Given the description of an element on the screen output the (x, y) to click on. 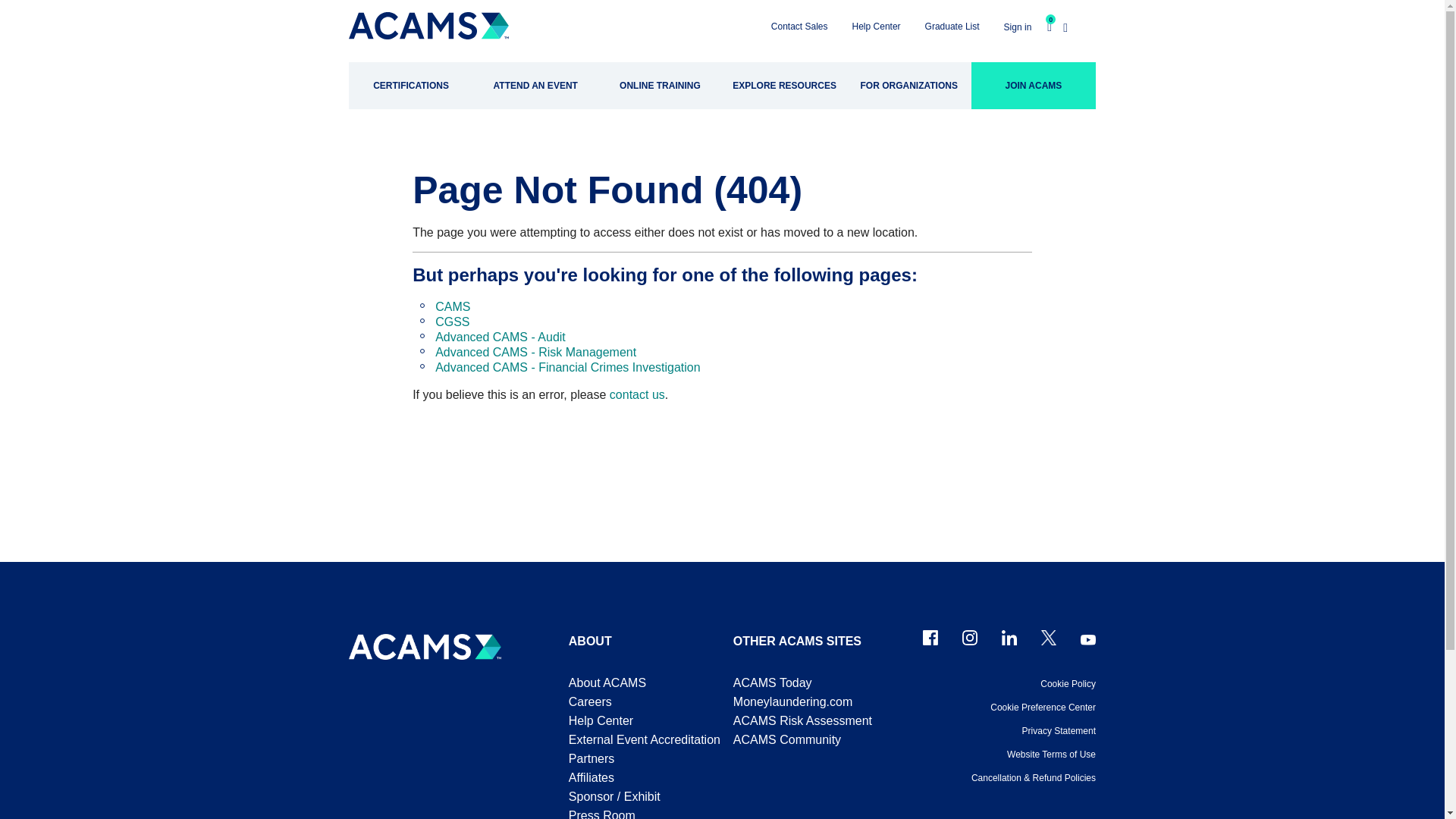
Home (428, 21)
Attend an Event (534, 85)
Certifications (411, 85)
